Given the description of an element on the screen output the (x, y) to click on. 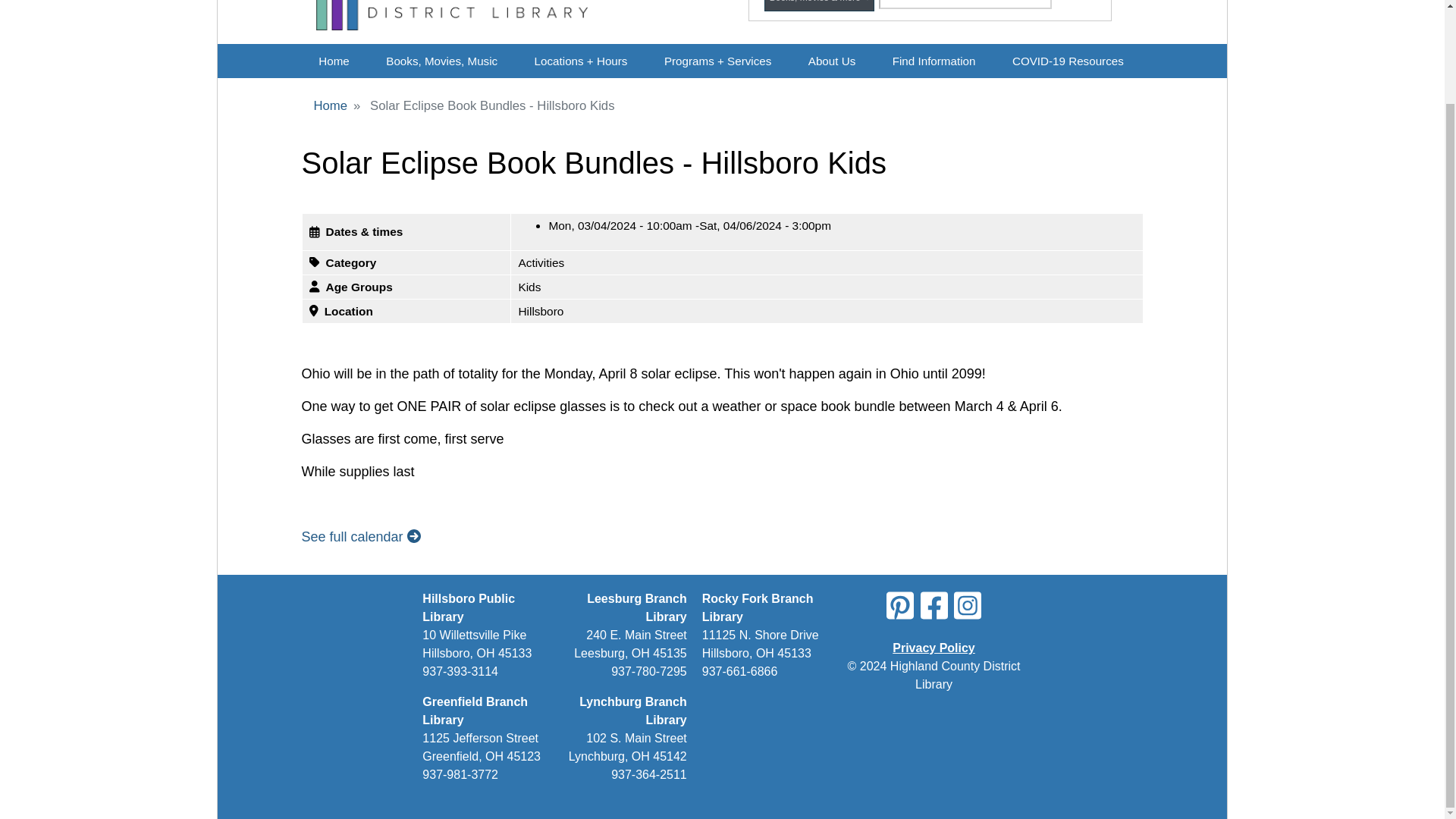
source (820, 2)
Books, Movies, Music (440, 61)
Find Information (933, 61)
Home (452, 22)
About Us (831, 61)
Find Information (933, 61)
Home (333, 61)
Type your search here (965, 4)
See full calendar (360, 536)
